Given the description of an element on the screen output the (x, y) to click on. 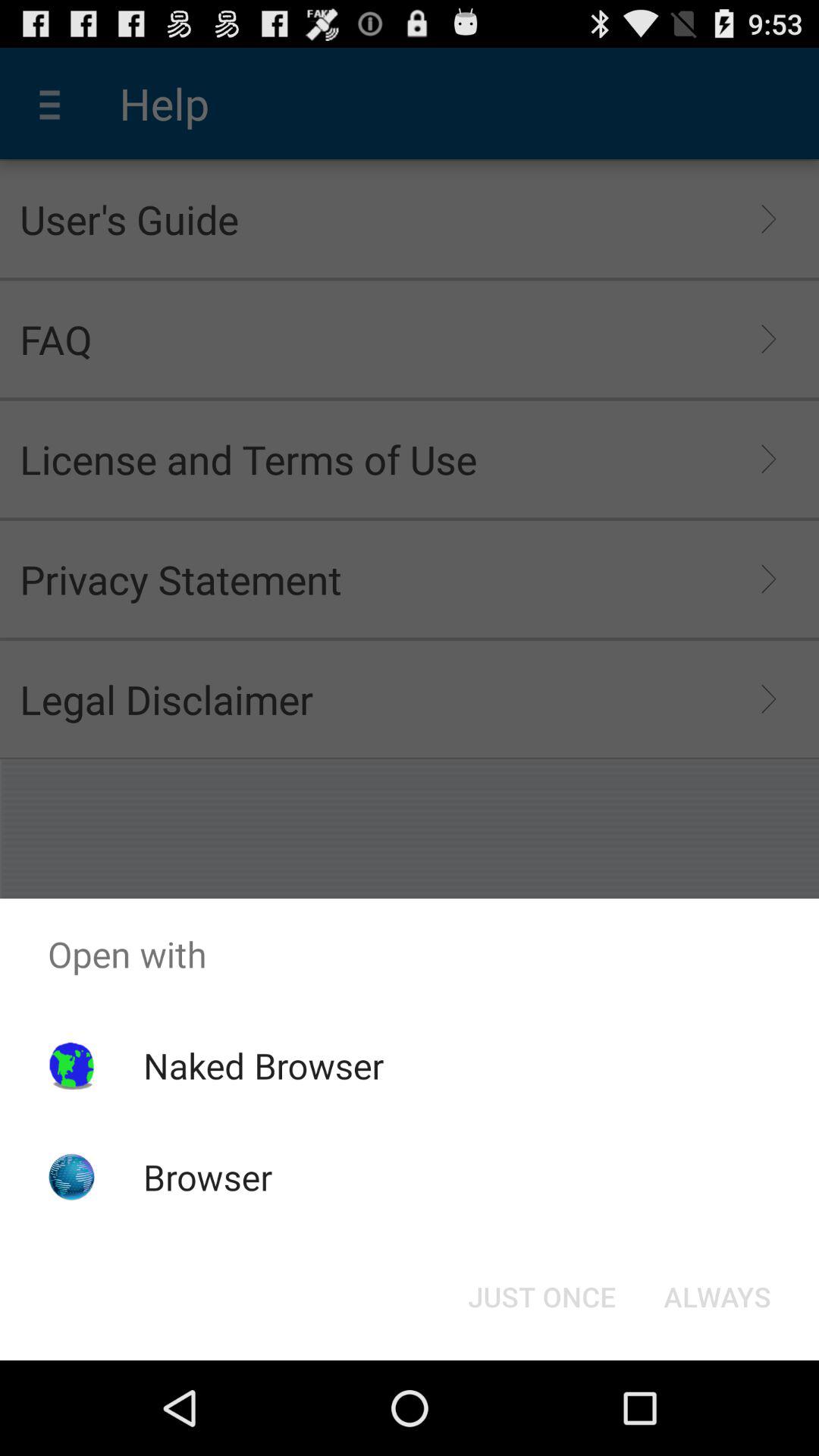
press the naked browser (263, 1065)
